Given the description of an element on the screen output the (x, y) to click on. 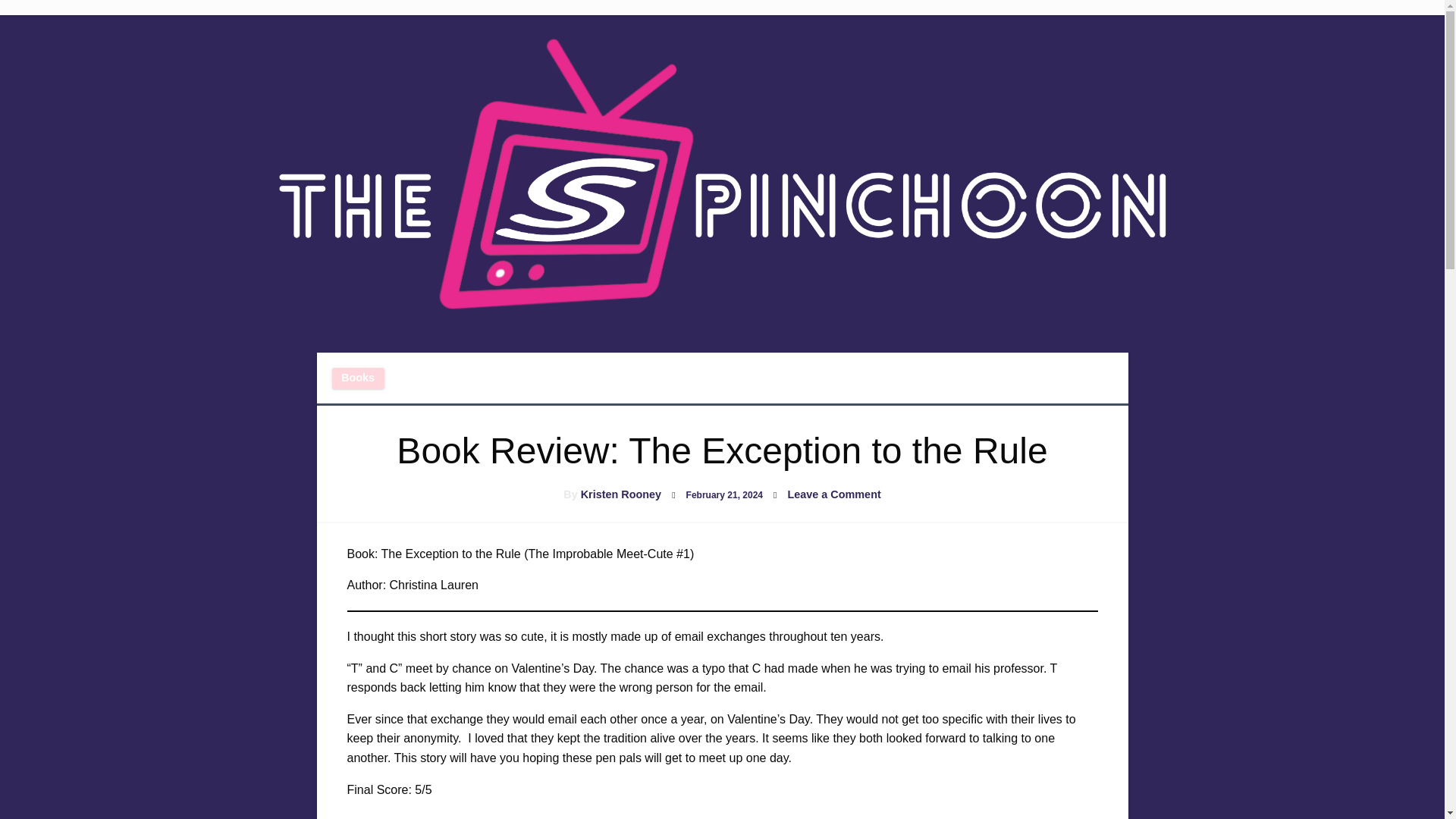
Books (357, 378)
Kristen Rooney (833, 494)
February 21, 2024 (620, 494)
Kristen Rooney (723, 494)
